Given the description of an element on the screen output the (x, y) to click on. 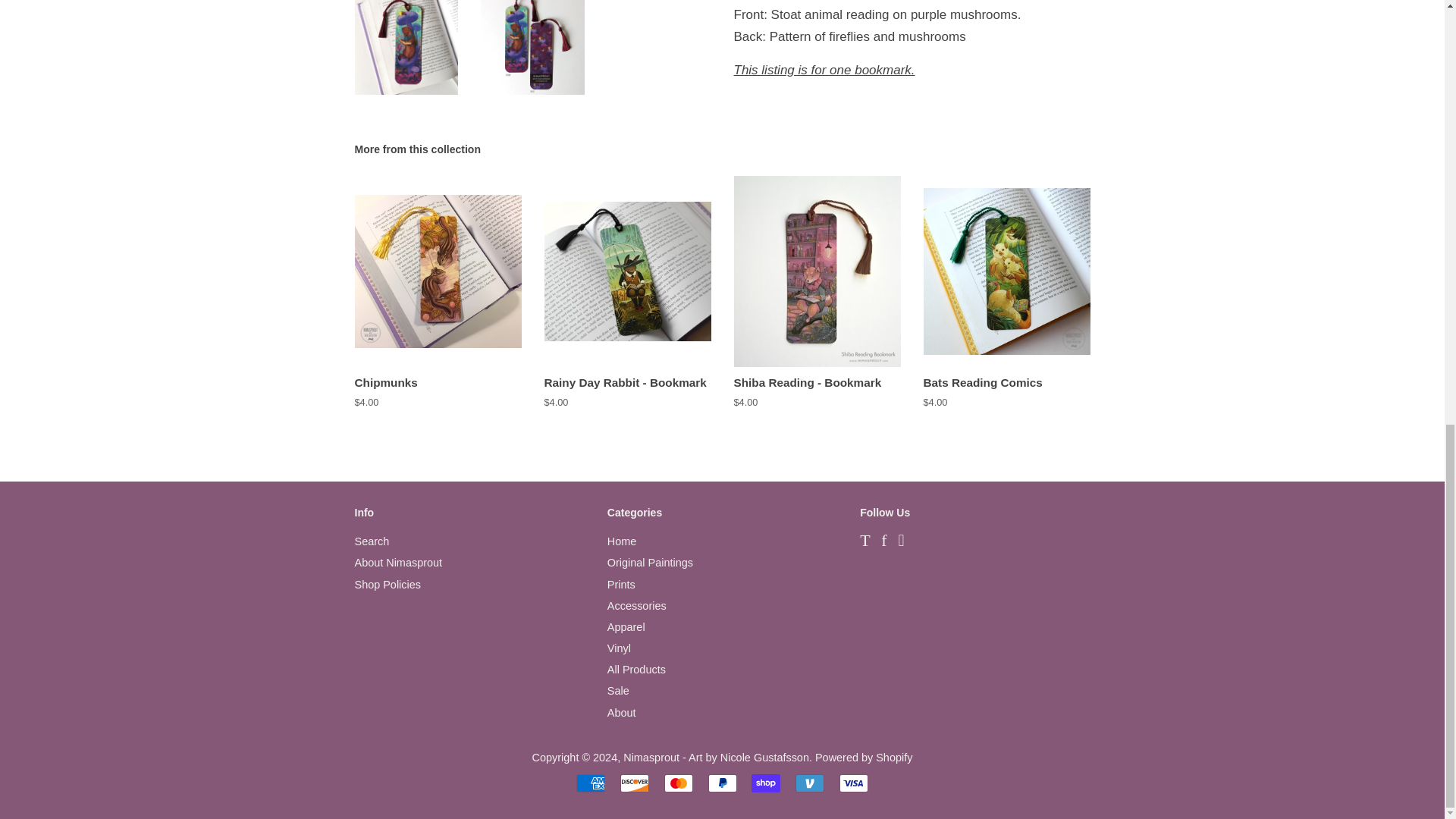
Shop Pay (765, 782)
Discover (634, 782)
Visa (853, 782)
Venmo (809, 782)
PayPal (721, 782)
American Express (590, 782)
Mastercard (678, 782)
